Given the description of an element on the screen output the (x, y) to click on. 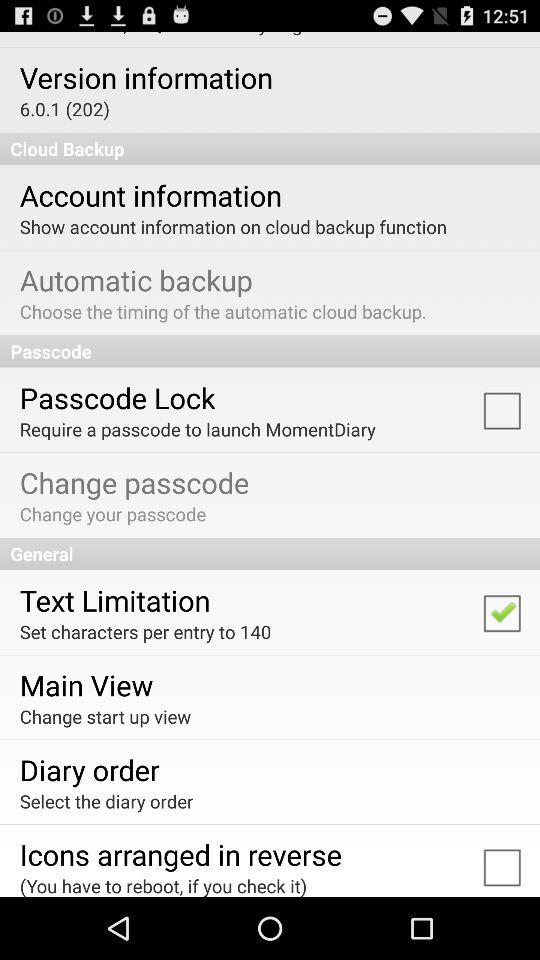
turn on the app below passcode (117, 397)
